Given the description of an element on the screen output the (x, y) to click on. 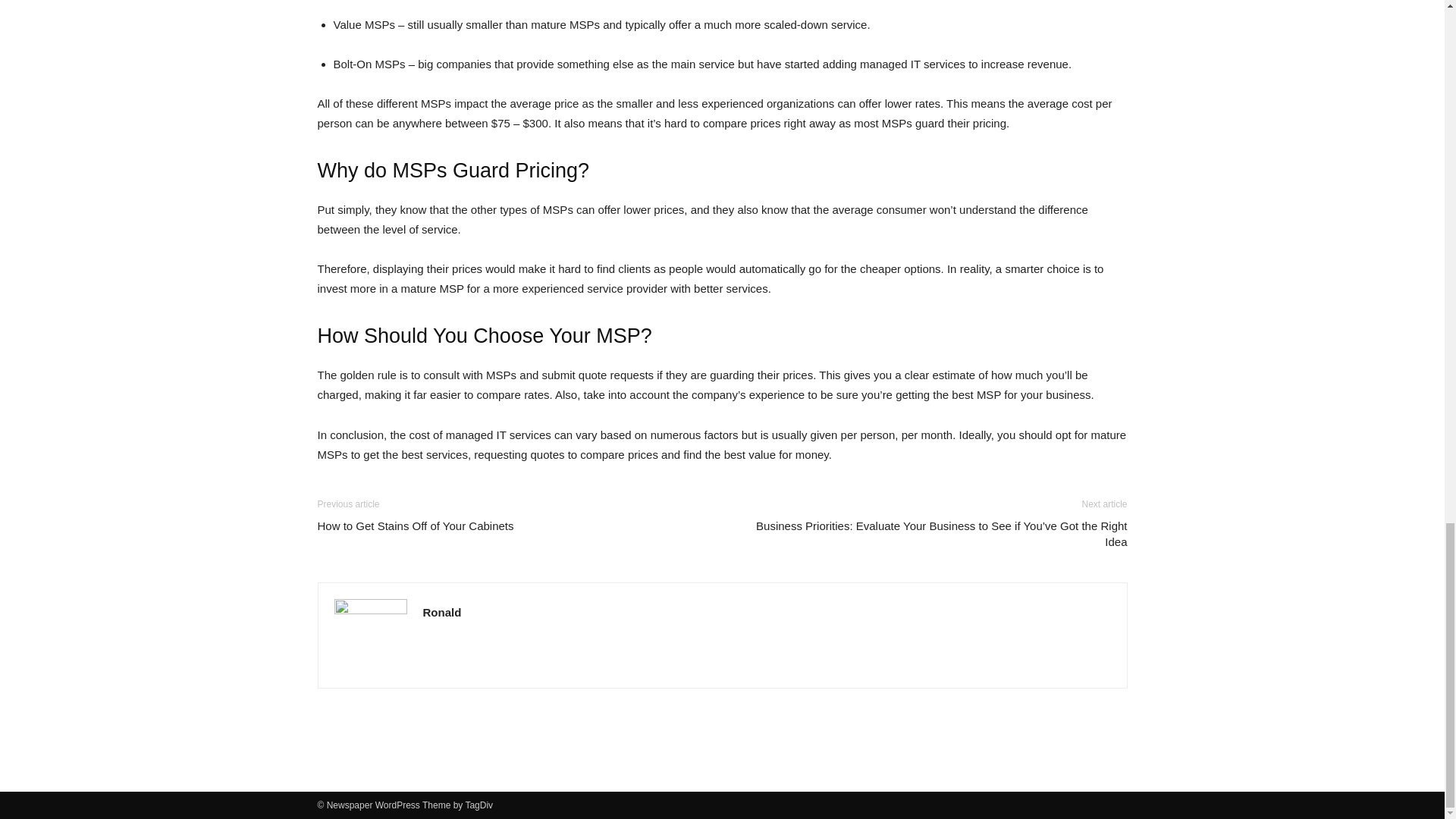
Ronald (442, 612)
How to Get Stains Off of Your Cabinets (415, 525)
